Given the description of an element on the screen output the (x, y) to click on. 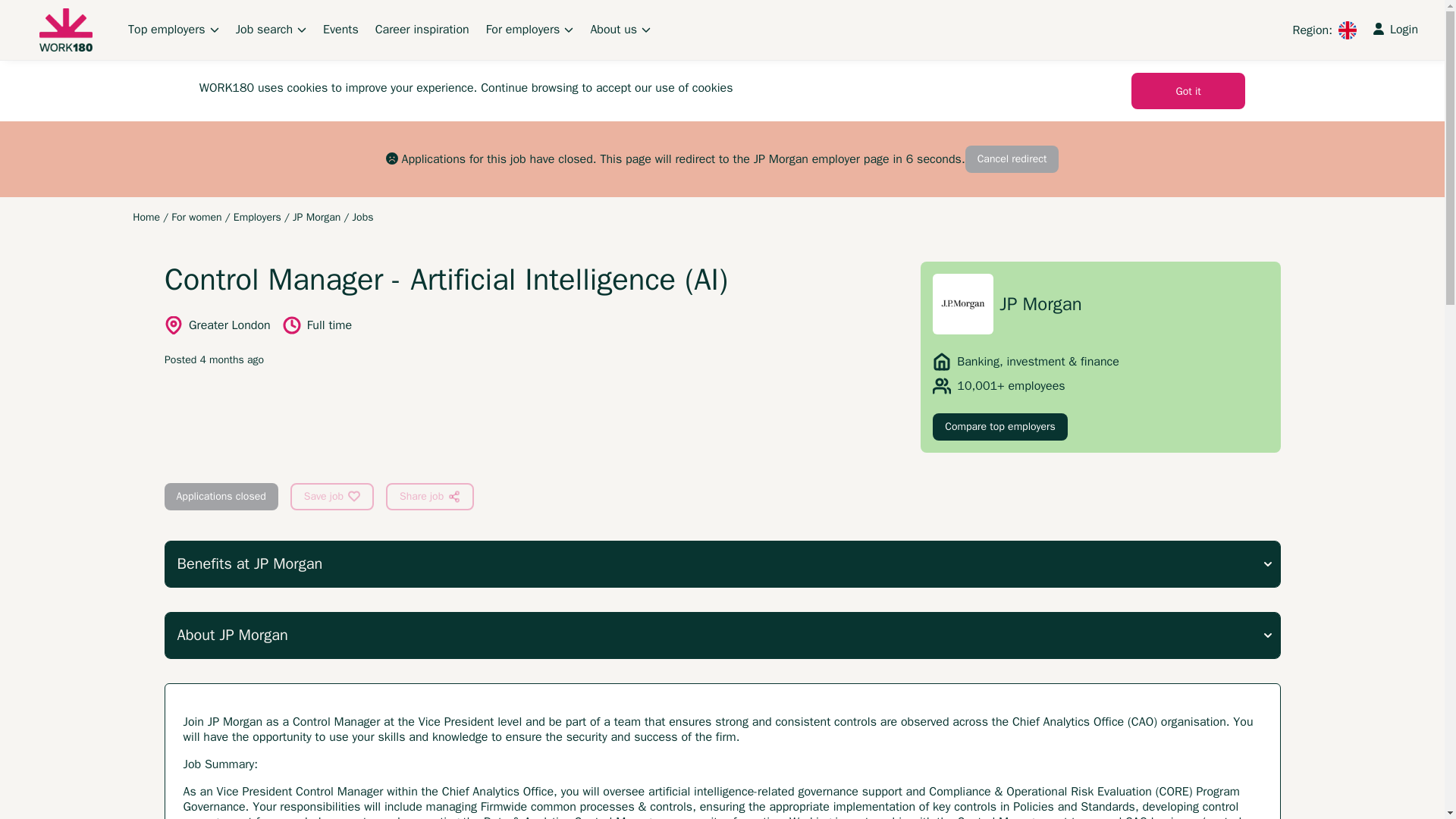
Cancel redirect (1012, 158)
Got it (1187, 90)
Career inspiration (421, 29)
About us (619, 29)
use of cookies (693, 87)
Job search (270, 29)
Login (1395, 29)
For employers (529, 29)
Top employers (173, 29)
Home (146, 216)
